Given the description of an element on the screen output the (x, y) to click on. 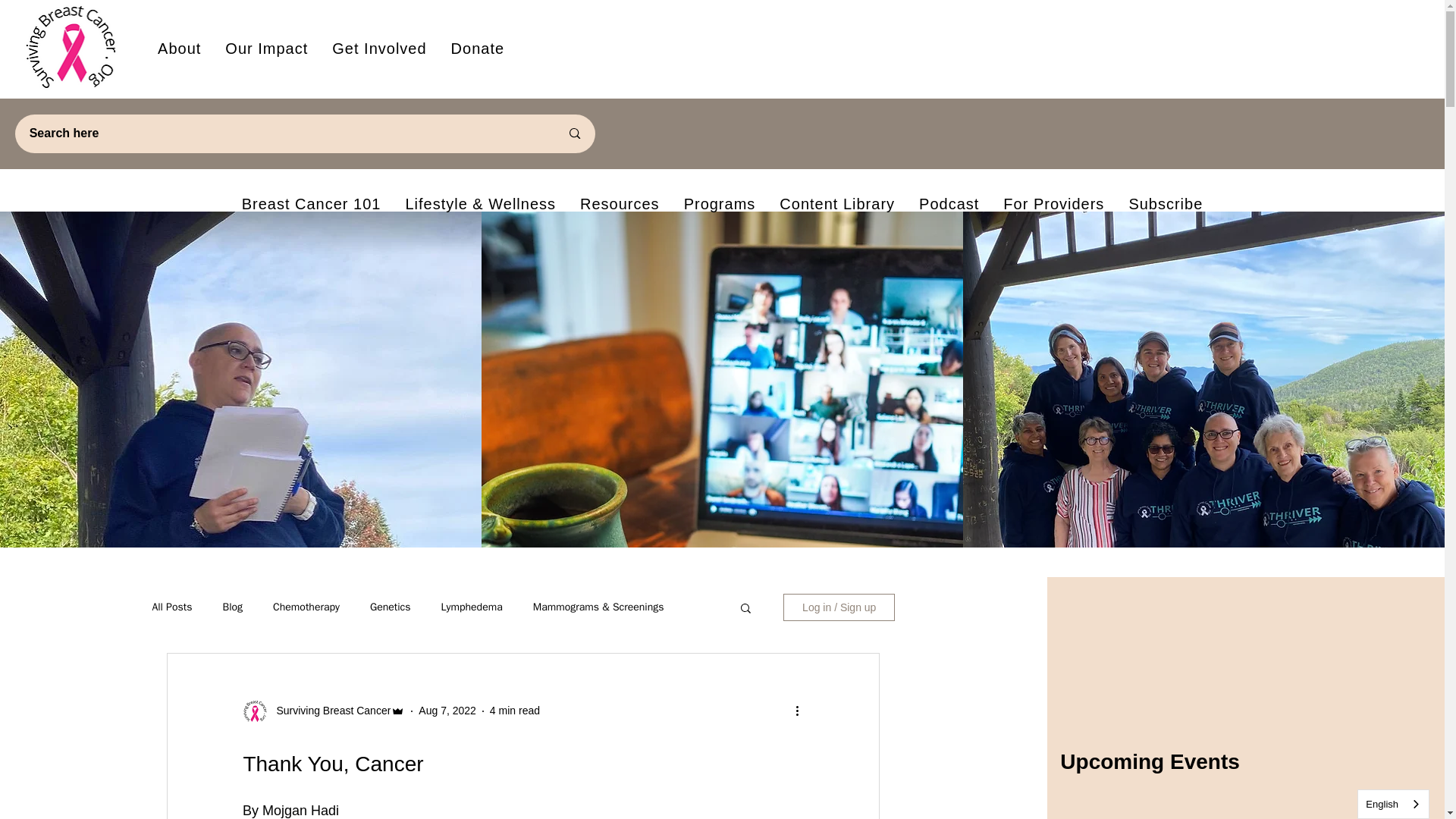
4 min read (556, 48)
Surviving Breast Cancer (514, 710)
Aug 7, 2022 (328, 710)
